Given the description of an element on the screen output the (x, y) to click on. 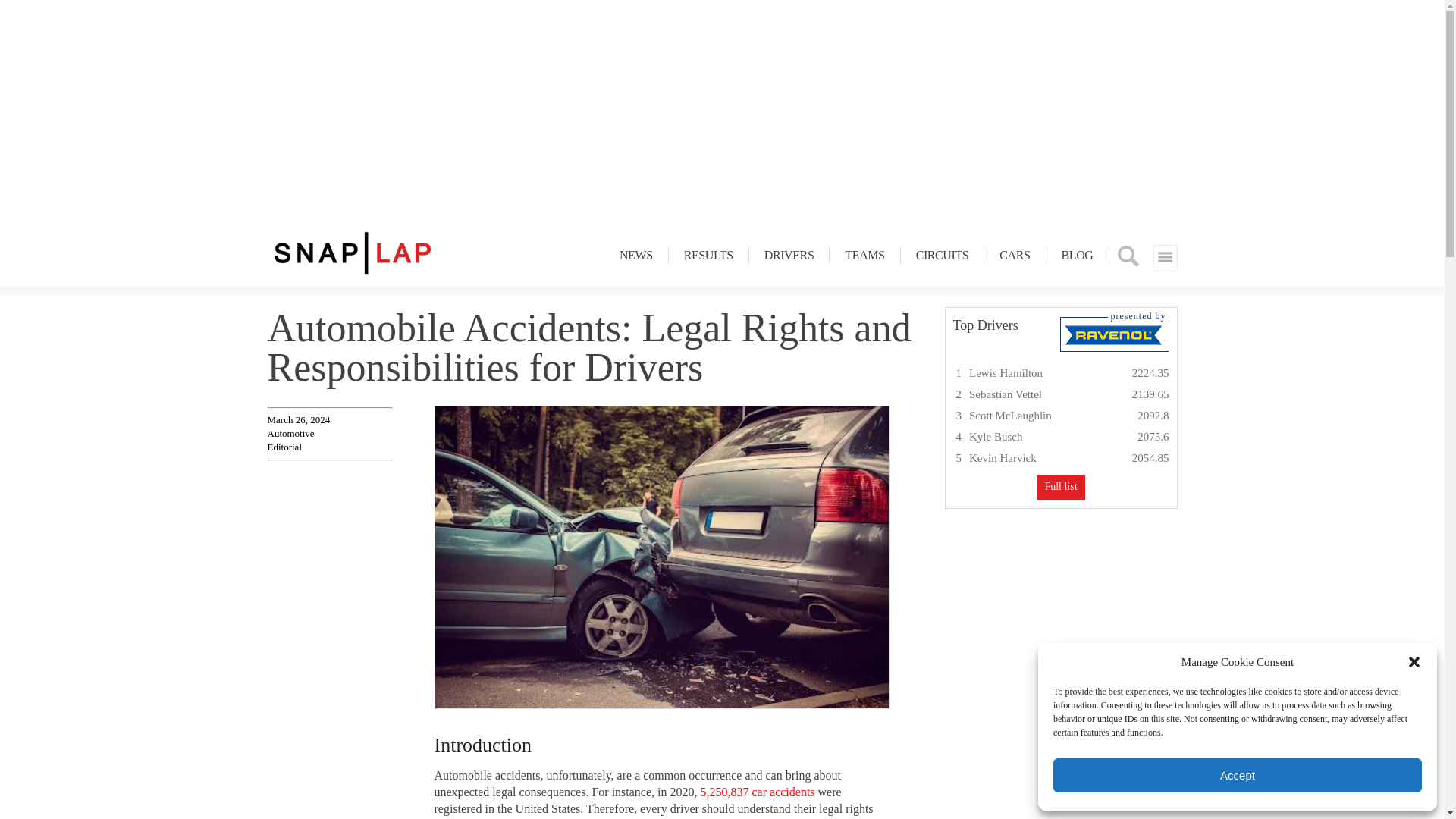
Kyle Busch (995, 436)
Kevin Harvick (1002, 458)
Accept (1237, 775)
Lewis Hamilton (1005, 372)
Scott McLaughlin (1010, 415)
TEAM DB (864, 255)
RESULTS (708, 255)
BLOG (1077, 255)
Kyle Busch (995, 436)
Search (1127, 256)
